Given the description of an element on the screen output the (x, y) to click on. 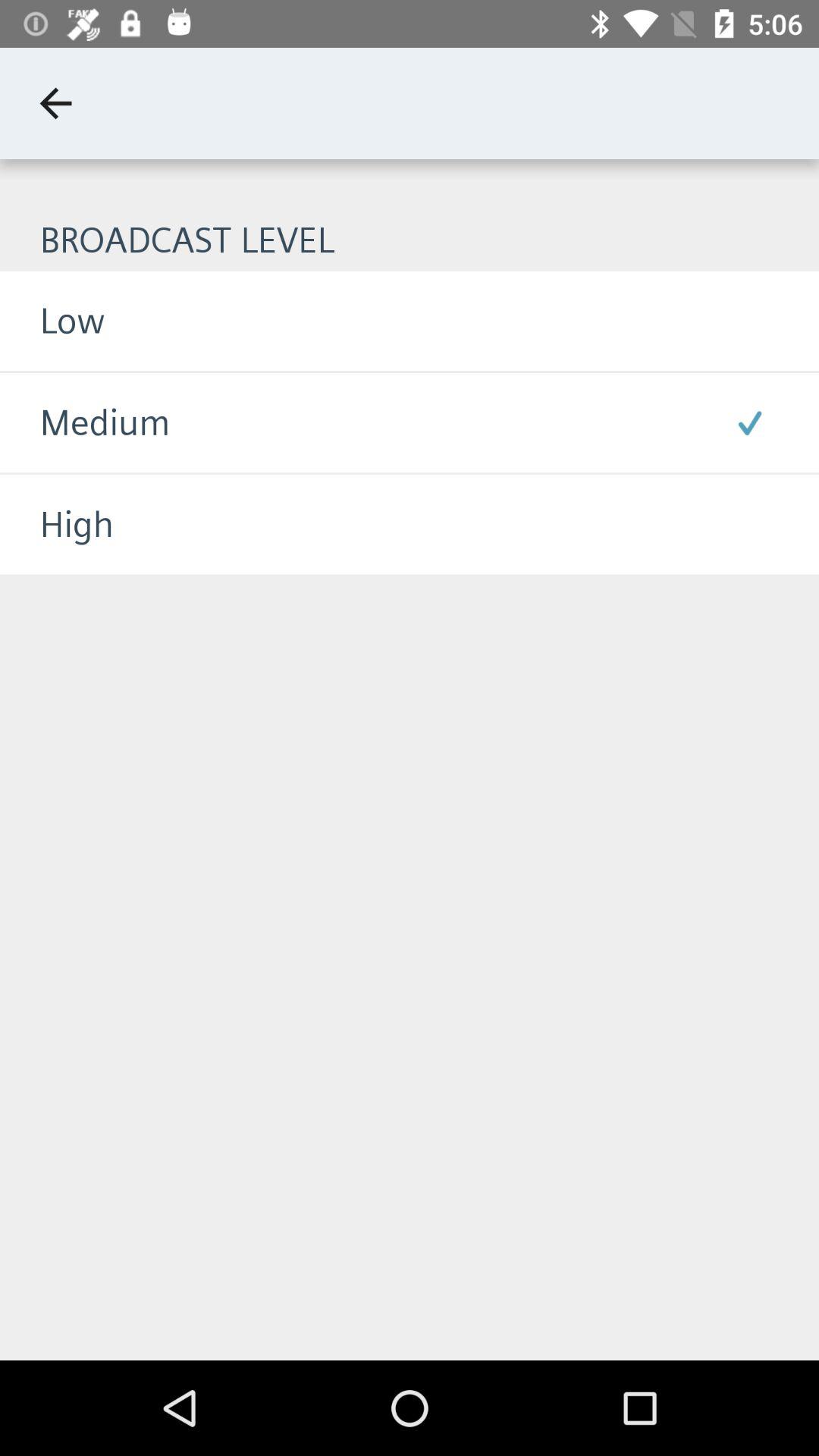
open icon below medium icon (56, 524)
